Given the description of an element on the screen output the (x, y) to click on. 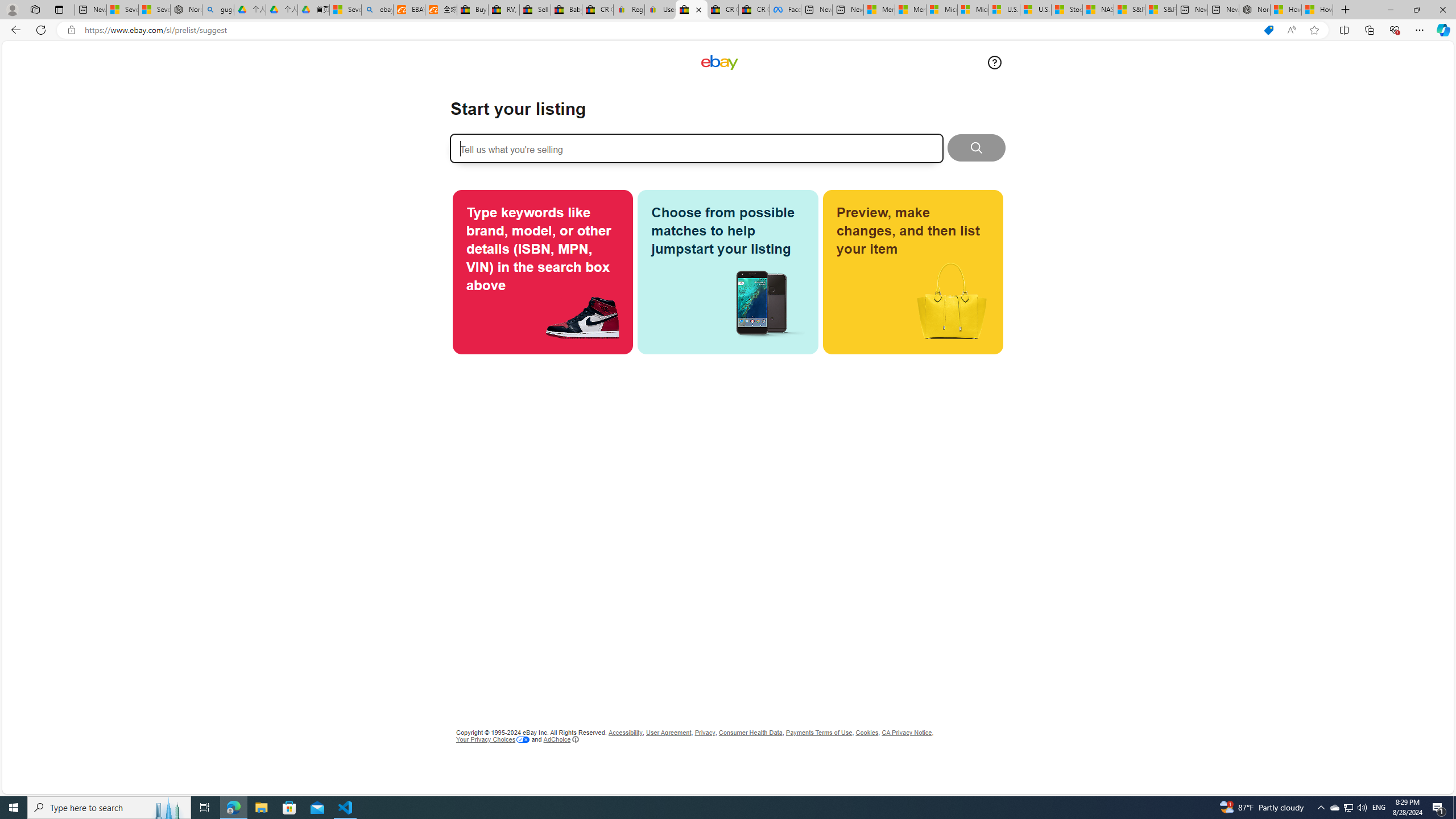
S&P 500, Nasdaq end lower, weighed by Nvidia dip | Watch (1160, 9)
